Given the description of an element on the screen output the (x, y) to click on. 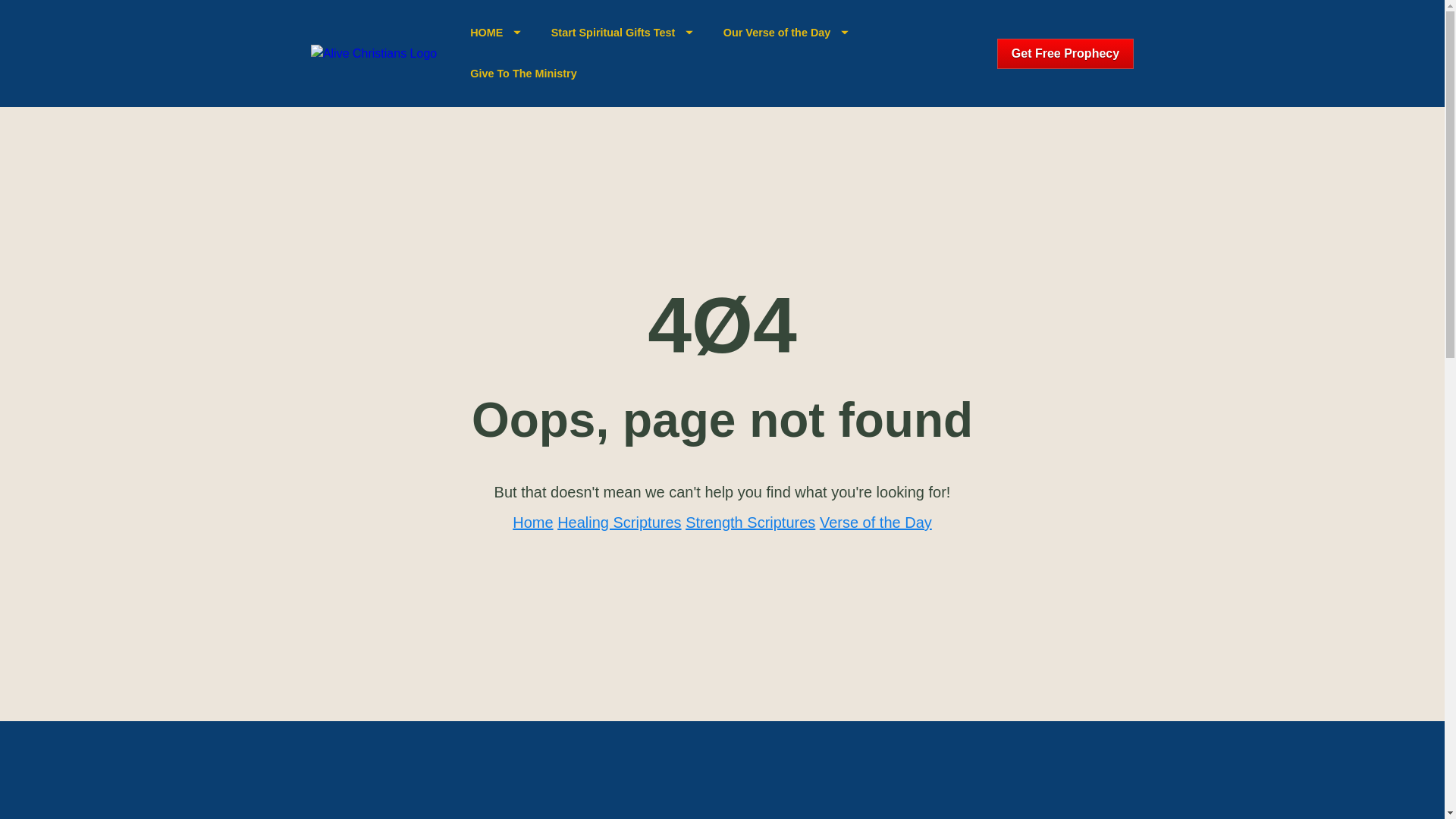
HOME (495, 33)
Get Free Prophecy (1065, 53)
Give To The Ministry (523, 74)
Start Spiritual Gifts Test (622, 33)
Our Verse of the Day (785, 33)
